Given the description of an element on the screen output the (x, y) to click on. 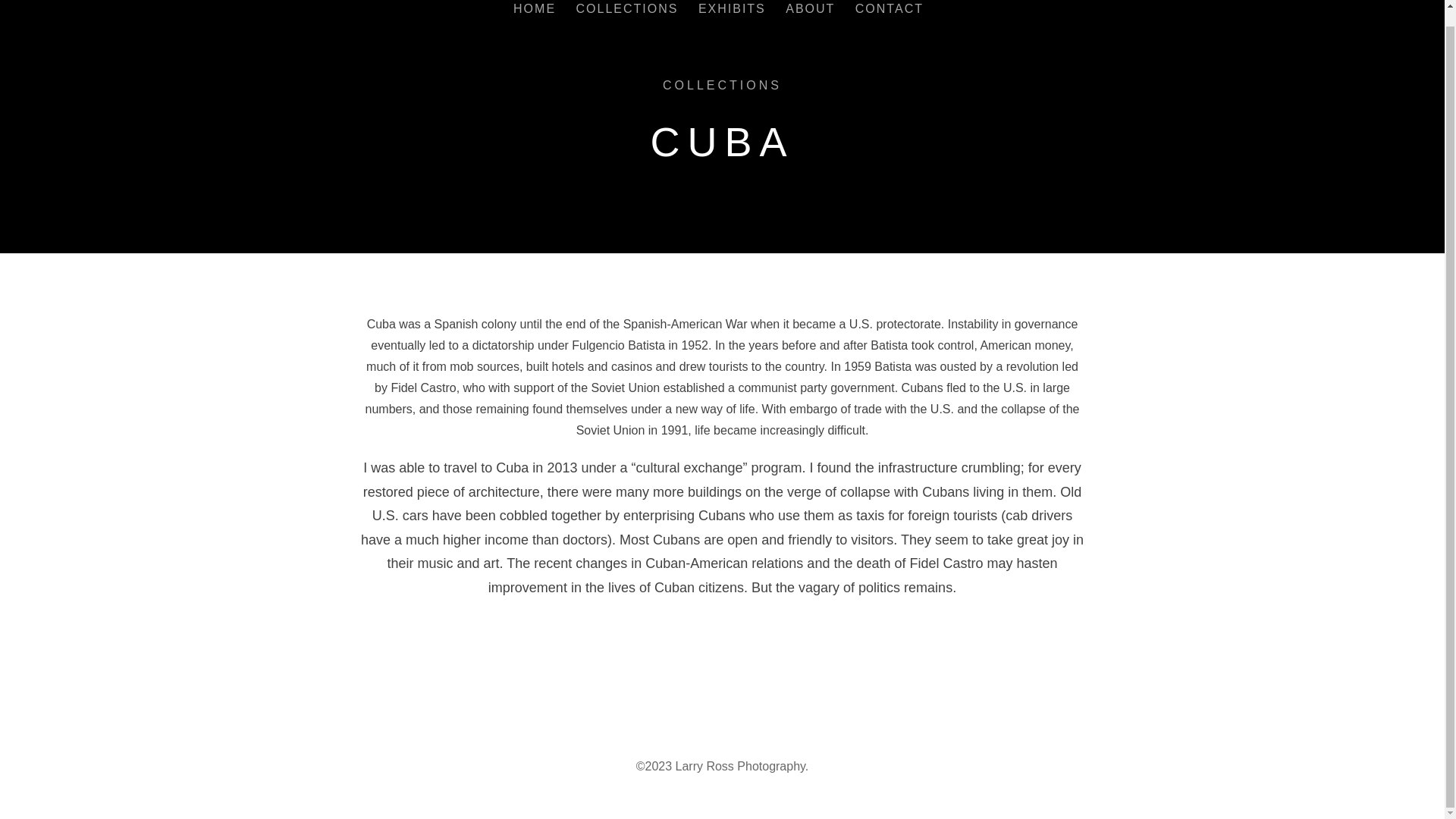
COLLECTIONS (627, 12)
CONTACT (889, 12)
COLLECTIONS (721, 84)
ABOUT (810, 12)
HOME (534, 12)
EXHIBITS (731, 12)
